Given the description of an element on the screen output the (x, y) to click on. 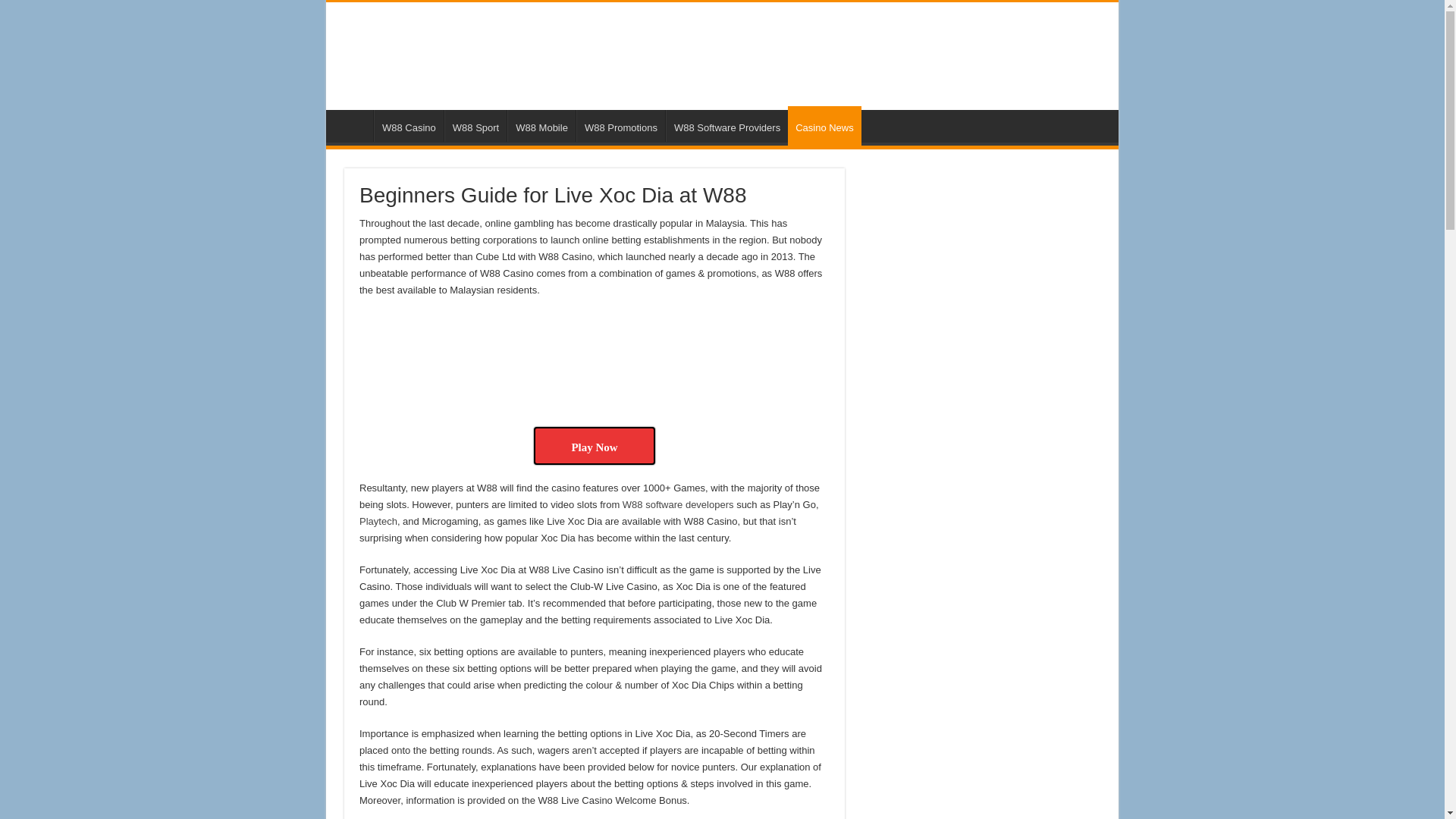
Play Now (594, 445)
W88 Promotions (620, 125)
W88 (352, 125)
Playtech (378, 521)
w88-my.com (488, 53)
W88 Casino (409, 125)
W88 Sport (475, 125)
W88 Mobile (540, 125)
W88 software developers (678, 504)
W88 Software Providers (726, 125)
Casino News (824, 125)
